Given the description of an element on the screen output the (x, y) to click on. 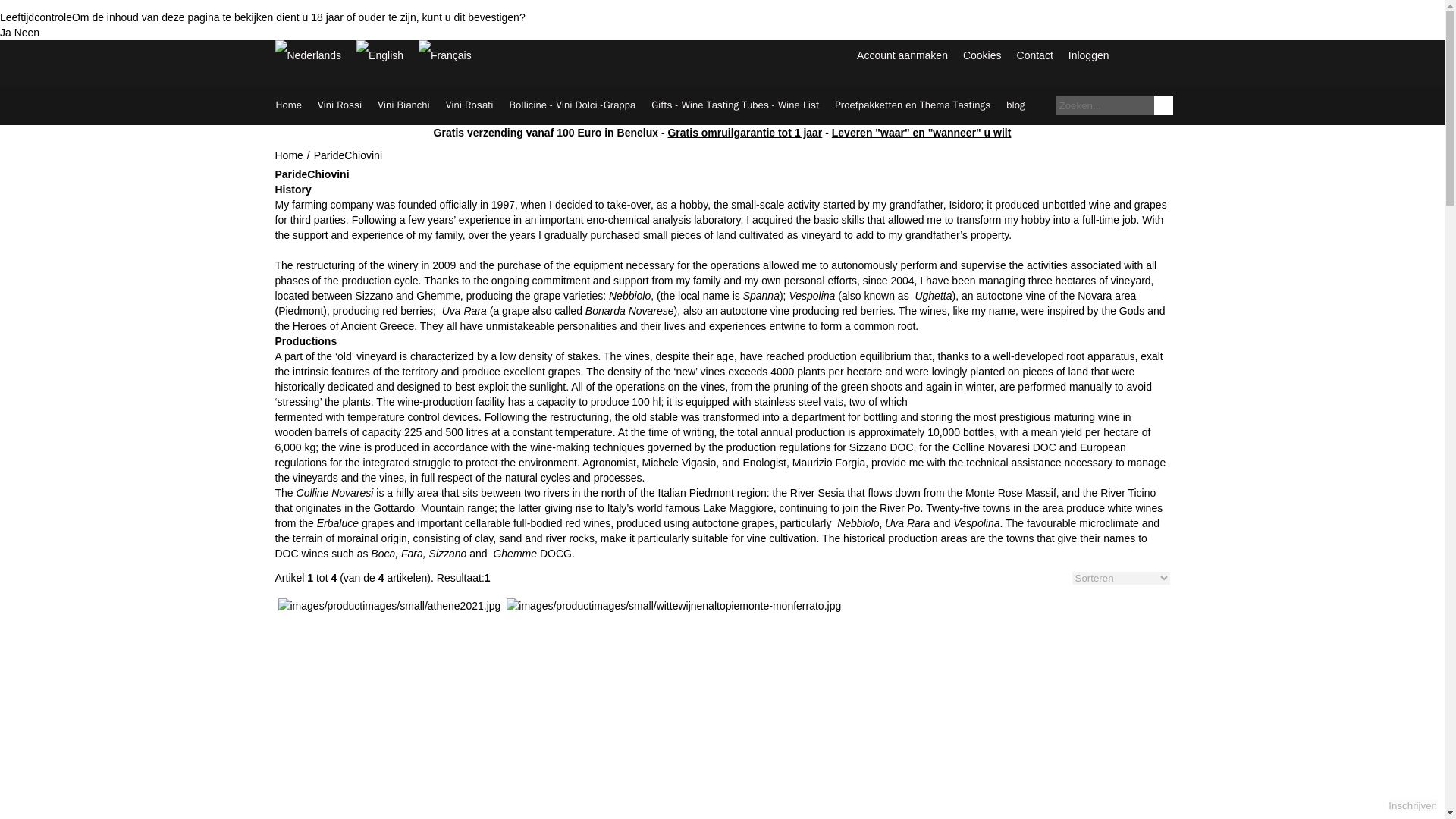
Vini Rossi (339, 105)
Home (288, 105)
Inschrijven (1413, 805)
English (379, 55)
Nederlands (307, 55)
